Given the description of an element on the screen output the (x, y) to click on. 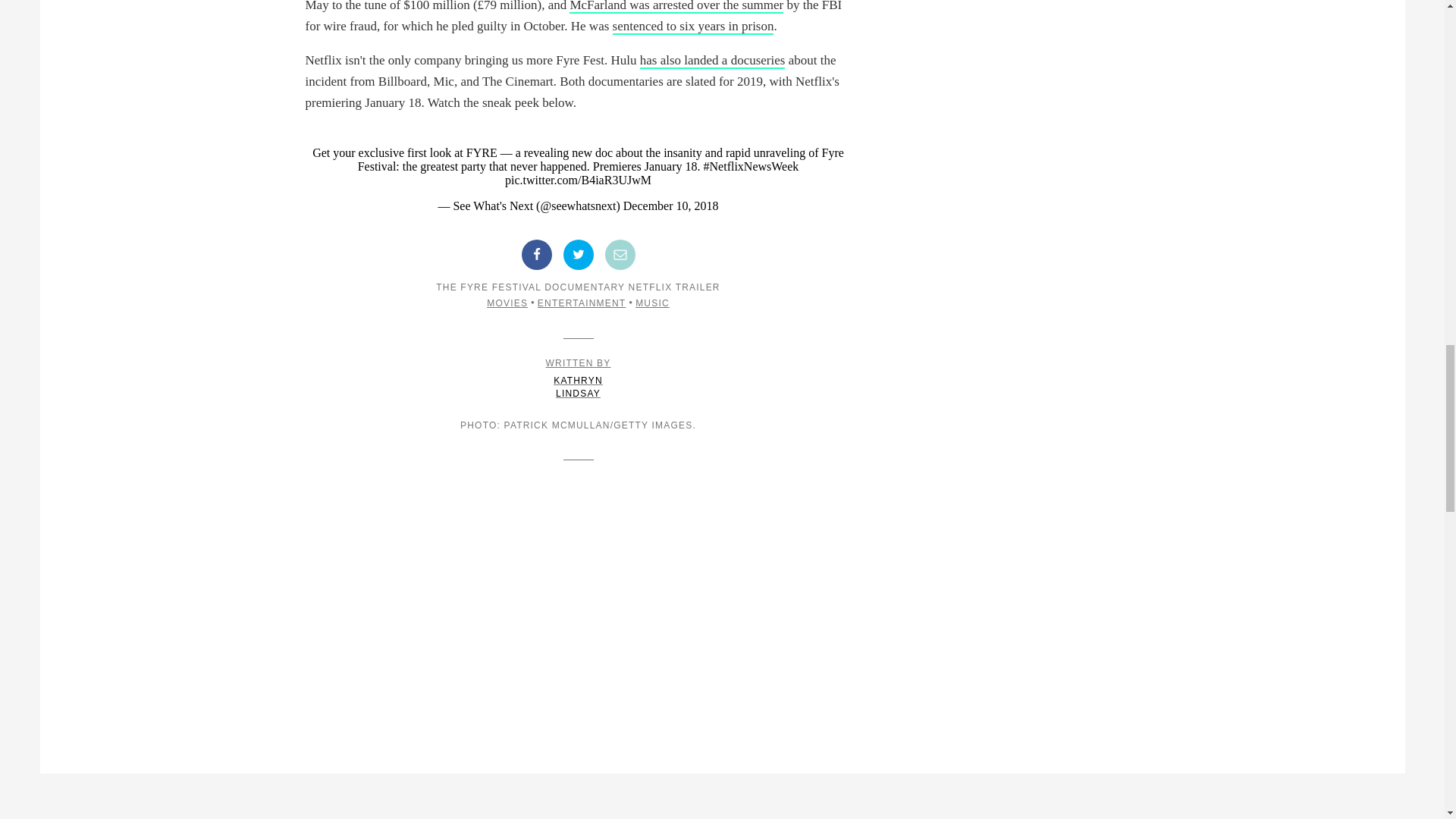
ENTERTAINMENT (581, 303)
sentenced to six years in prison (693, 26)
McFarland was arrested over the summer (676, 6)
MOVIES (506, 303)
Share by Email (619, 254)
December 10, 2018 (671, 205)
has also landed a docuseries (713, 60)
Share on Twitter (577, 254)
